Given the description of an element on the screen output the (x, y) to click on. 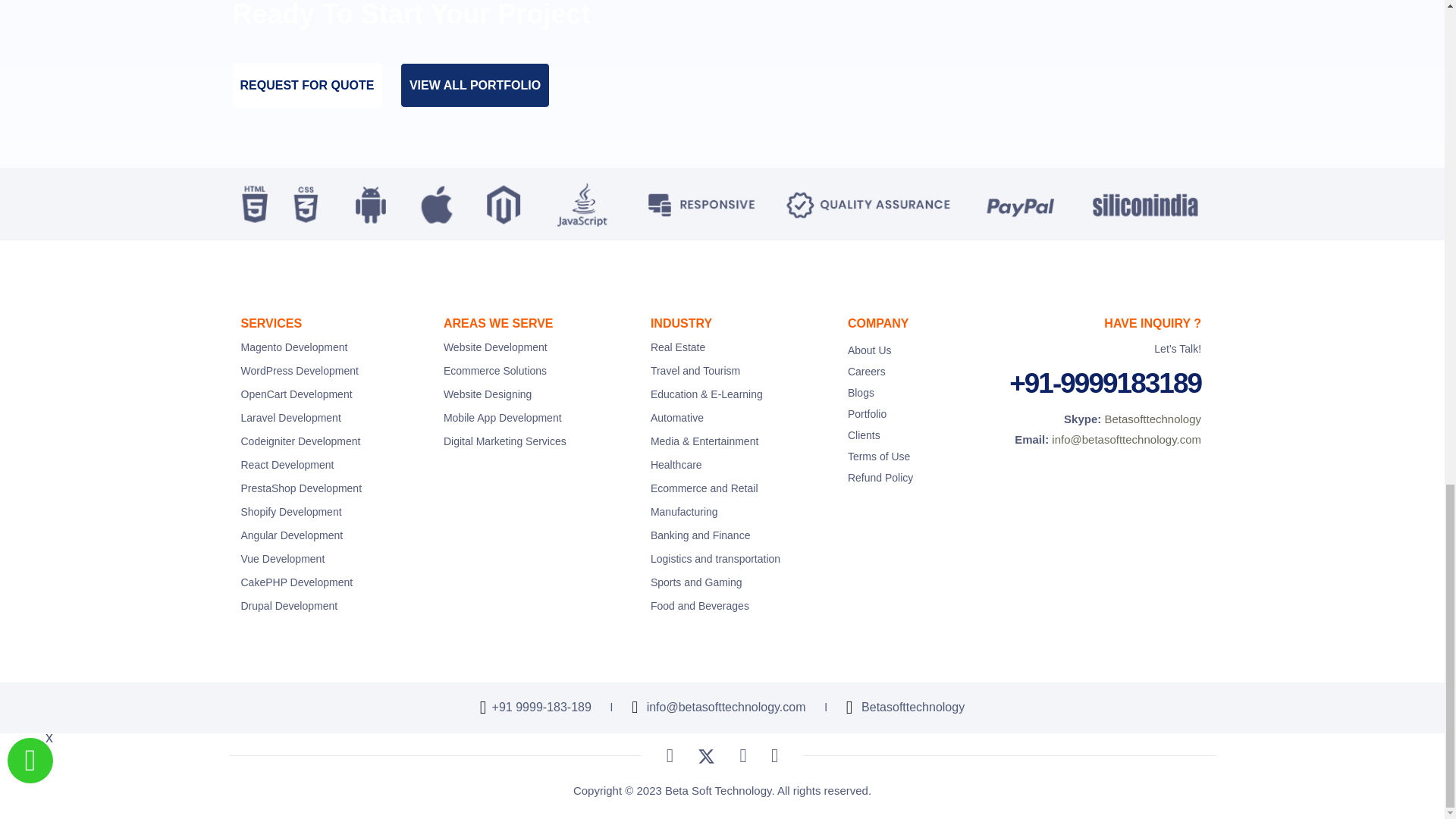
skype (905, 707)
skype (1152, 418)
